Given the description of an element on the screen output the (x, y) to click on. 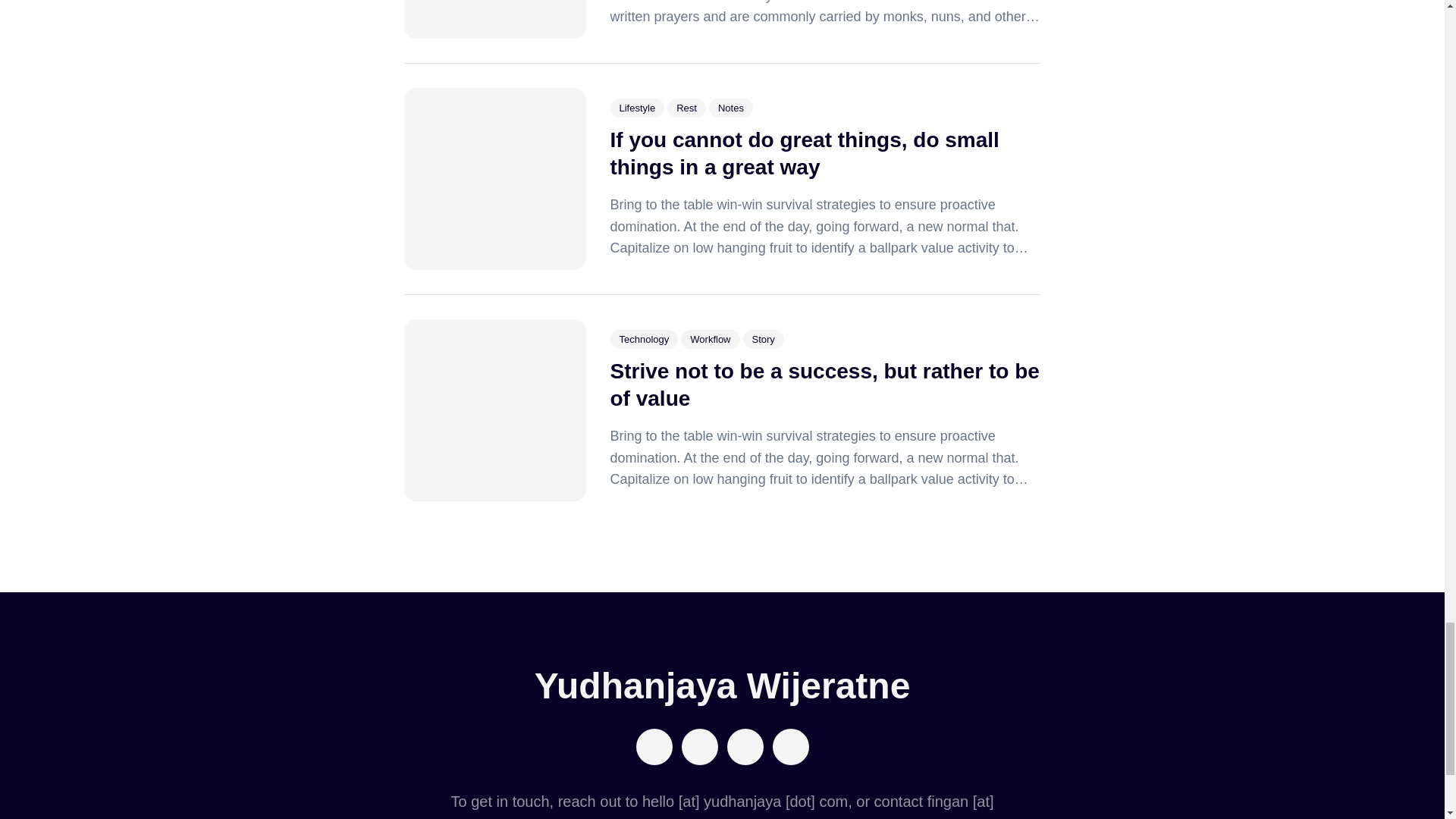
Lifestyle (636, 107)
Technology (644, 339)
Story (763, 339)
Notes (730, 107)
Strive not to be a success, but rather to be of value (824, 384)
Rest (686, 107)
Workflow (710, 339)
